Given the description of an element on the screen output the (x, y) to click on. 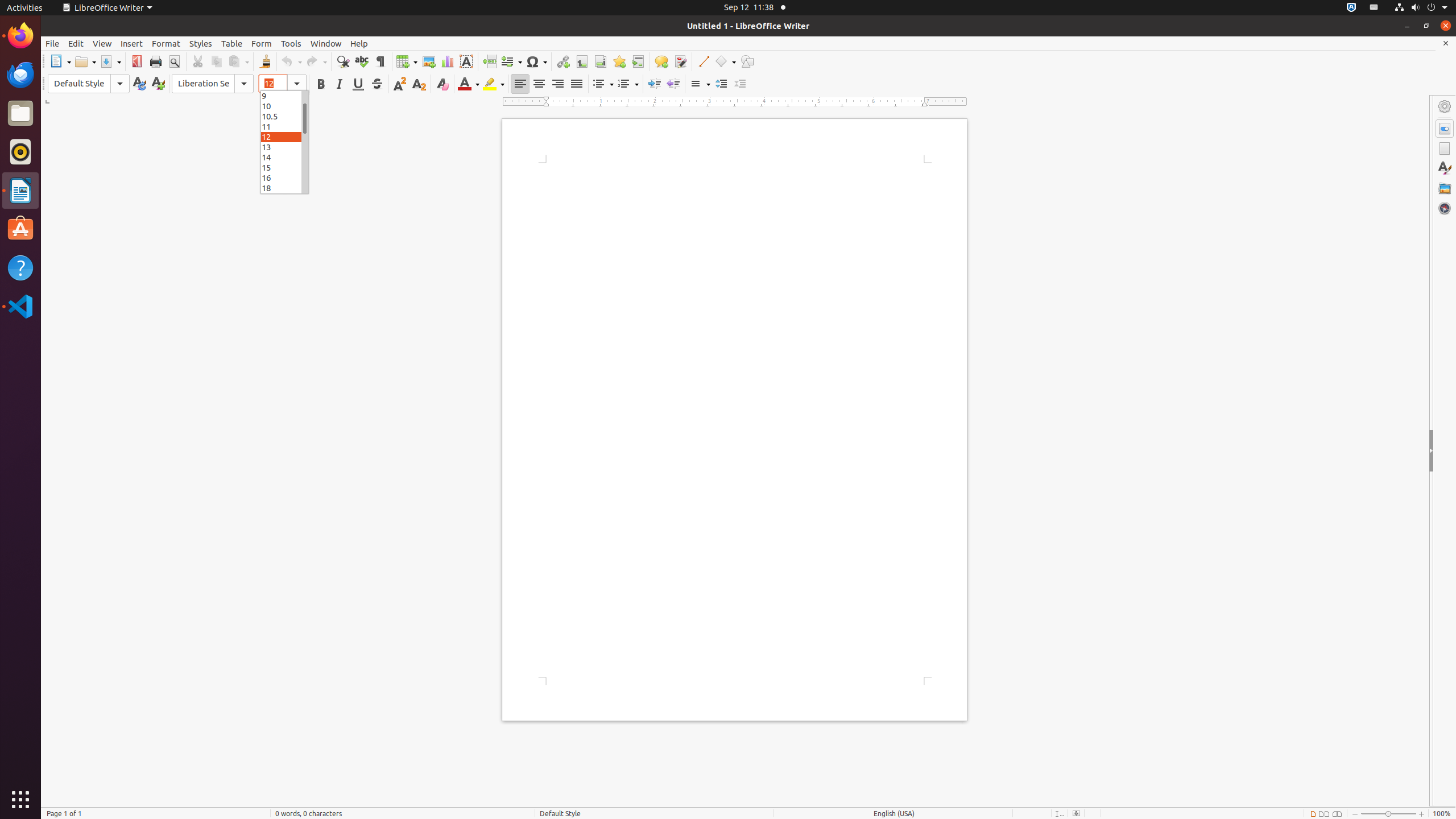
Copy Element type: push-button (216, 61)
Track Changes Functions Element type: toggle-button (679, 61)
Left Element type: toggle-button (519, 83)
Bold Element type: toggle-button (320, 83)
Show Applications Element type: toggle-button (20, 799)
